Given the description of an element on the screen output the (x, y) to click on. 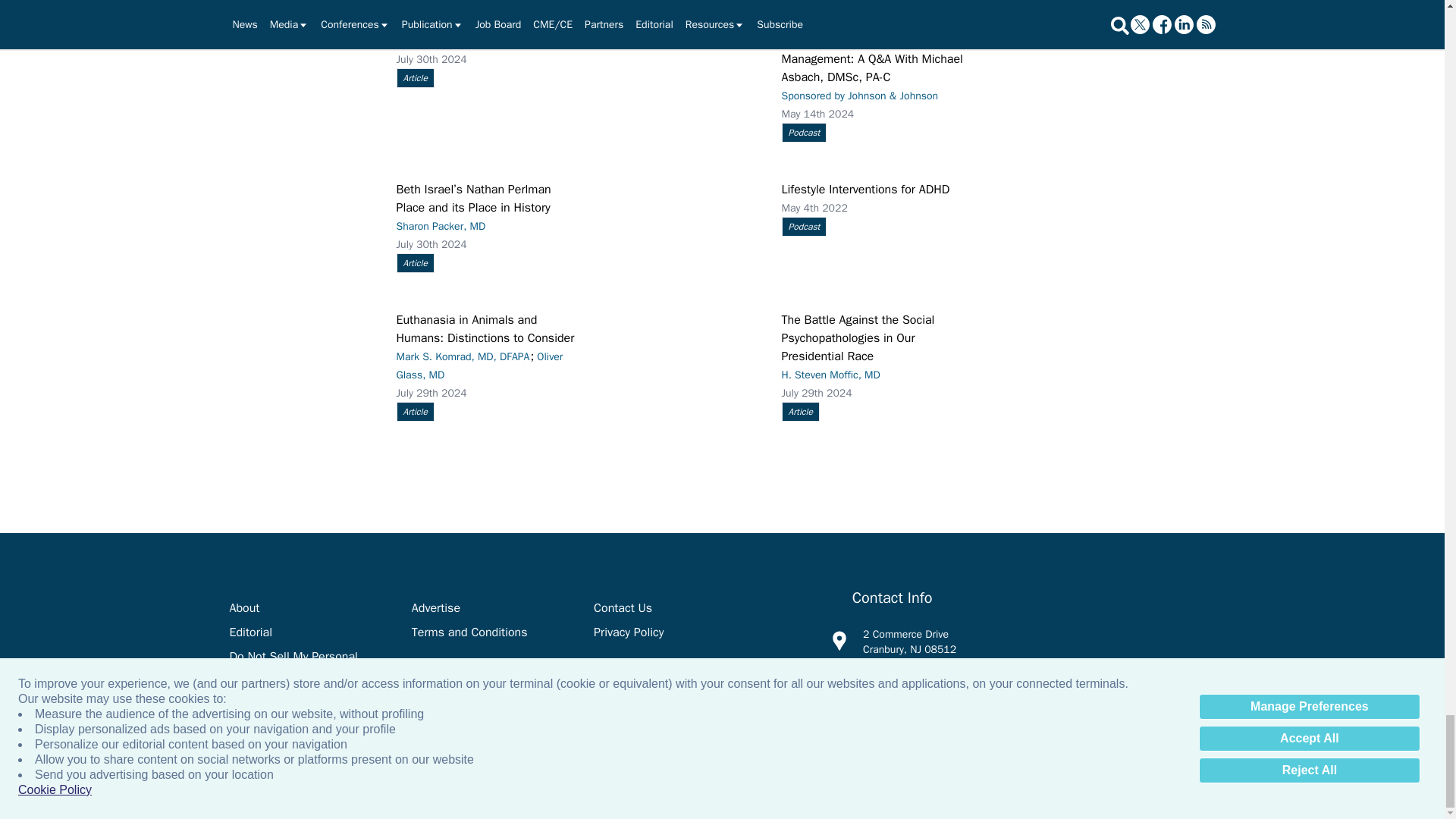
typhoon (304, 60)
